Given the description of an element on the screen output the (x, y) to click on. 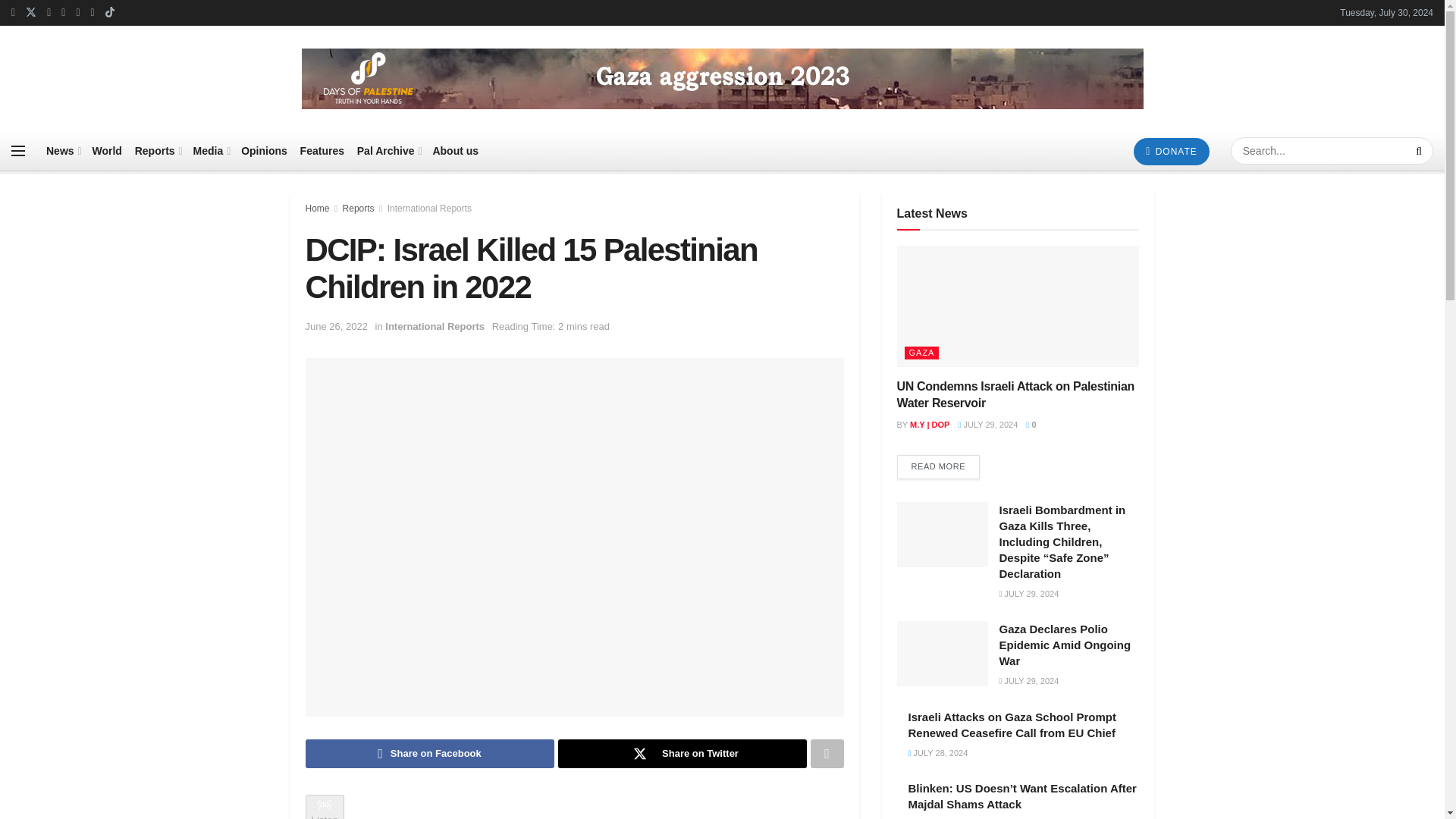
Reports (157, 150)
Media (210, 150)
Opinions (263, 150)
Pal Archive (388, 150)
Features (321, 150)
